Given the description of an element on the screen output the (x, y) to click on. 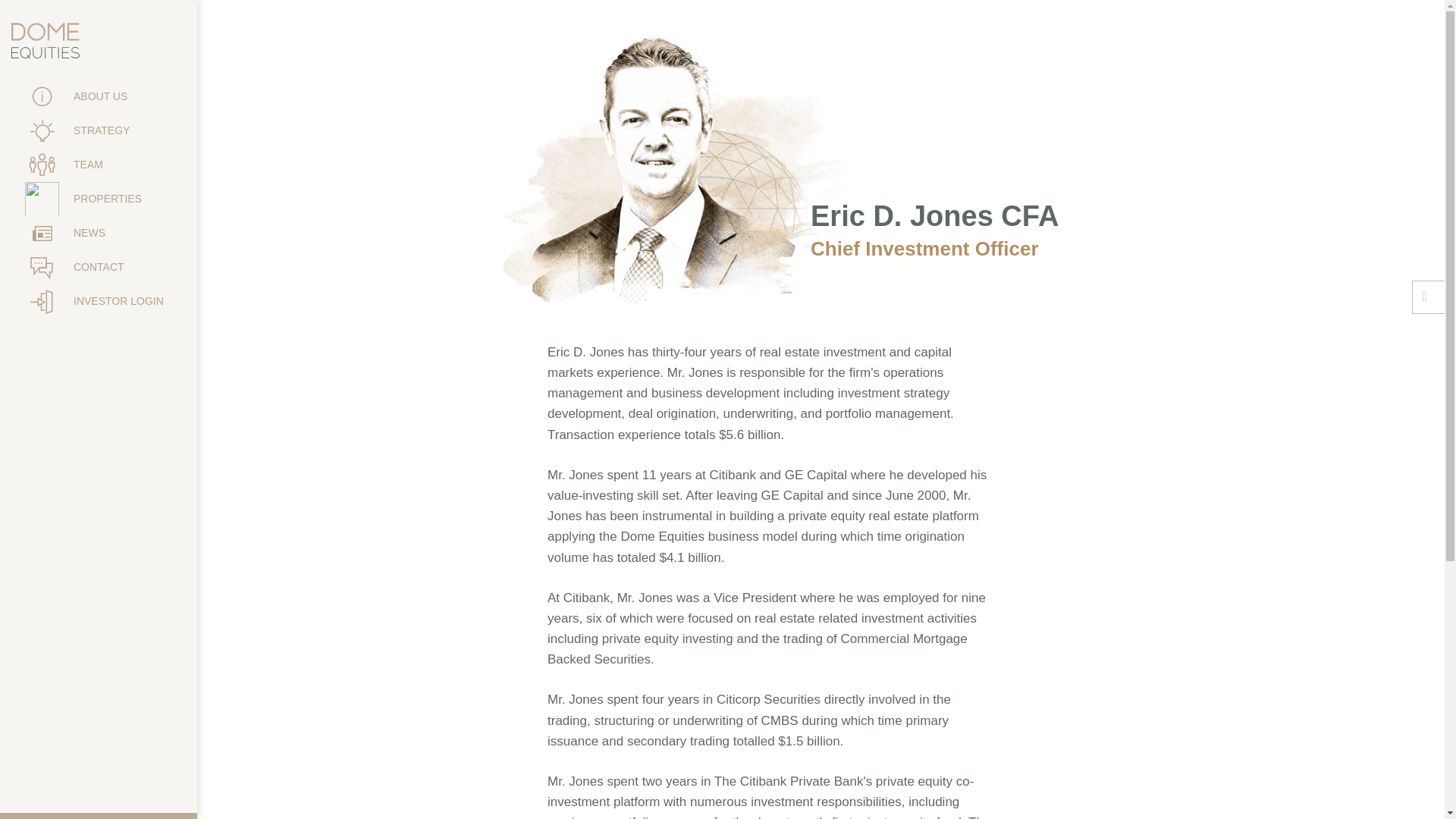
CONTACT (98, 267)
Investor Login (98, 301)
PROPERTIES (98, 198)
ABOUT US (98, 96)
News (98, 233)
Contact (98, 267)
Team (98, 164)
About Us (98, 96)
NEWS (98, 233)
TEAM (98, 164)
